Given the description of an element on the screen output the (x, y) to click on. 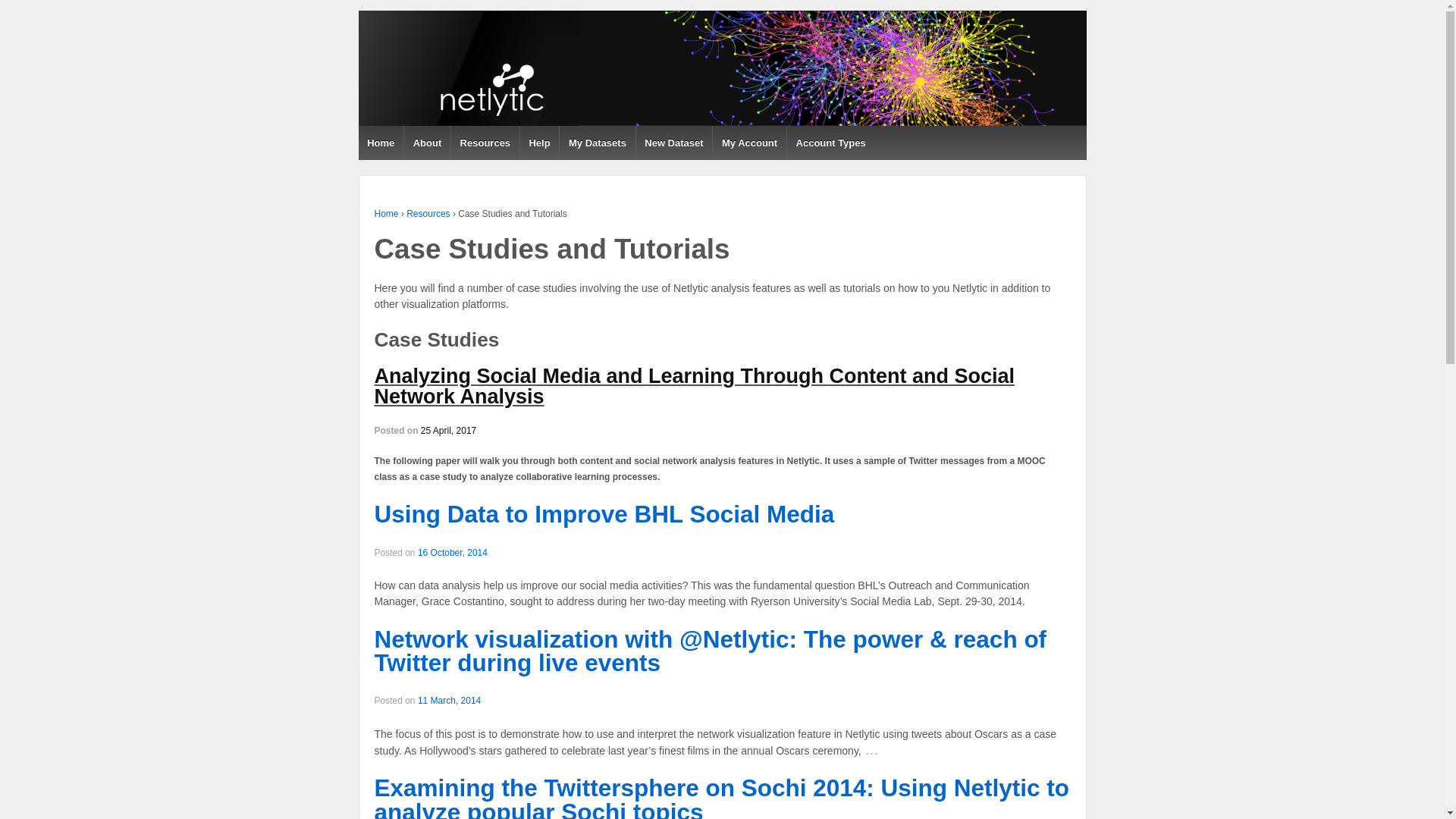
Account Types (830, 142)
My Datasets (596, 142)
New Dataset (673, 142)
Home (386, 213)
Help (539, 142)
11 March, 2014 (448, 700)
My Account (748, 142)
16 October, 2014 (452, 552)
Resources (484, 142)
About (426, 142)
Using Data to Improve BHL Social Media (604, 513)
Resources (427, 213)
25 April, 2017 (448, 430)
